Given the description of an element on the screen output the (x, y) to click on. 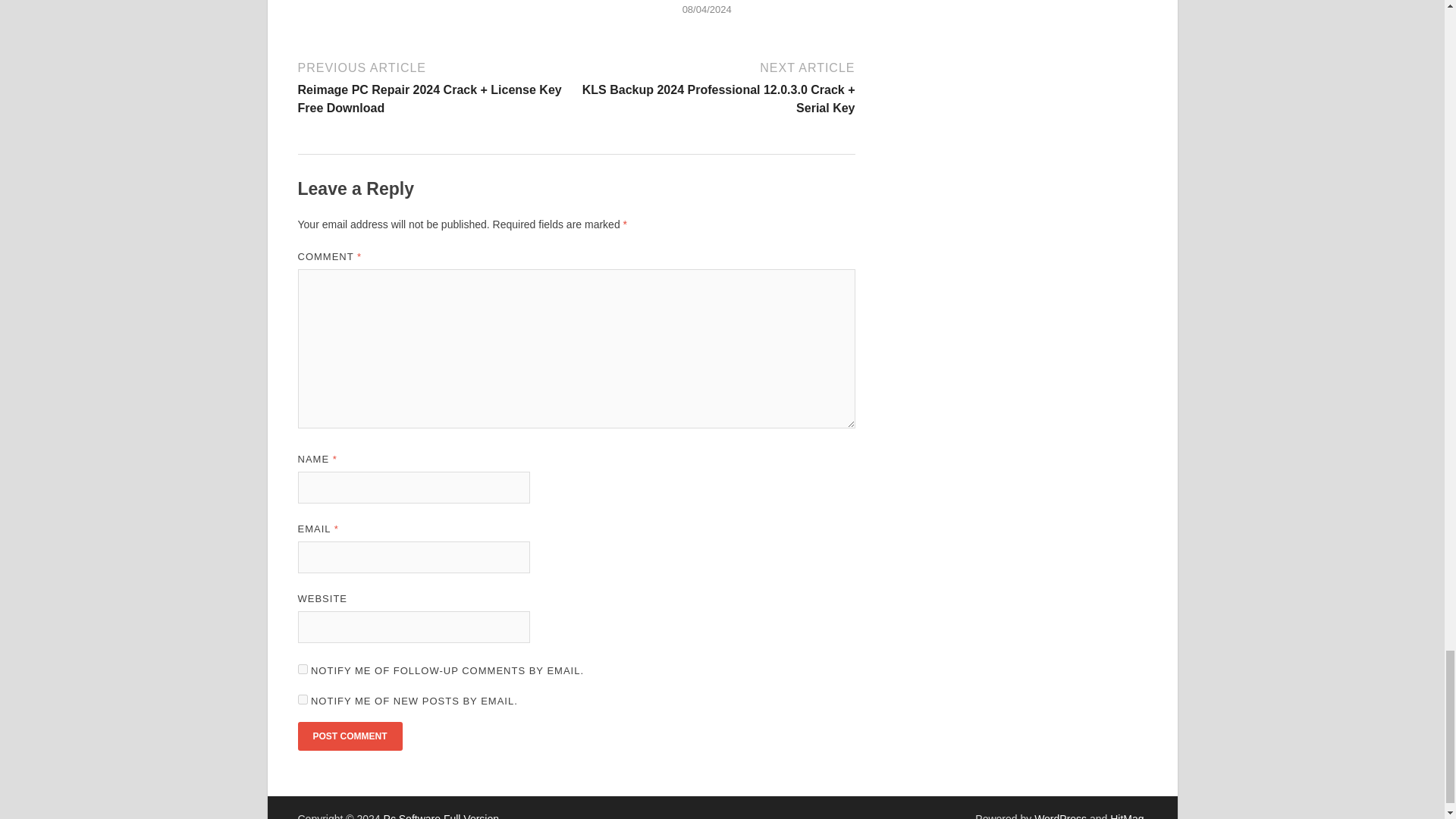
Post Comment (349, 736)
subscribe (302, 699)
subscribe (302, 669)
